Given the description of an element on the screen output the (x, y) to click on. 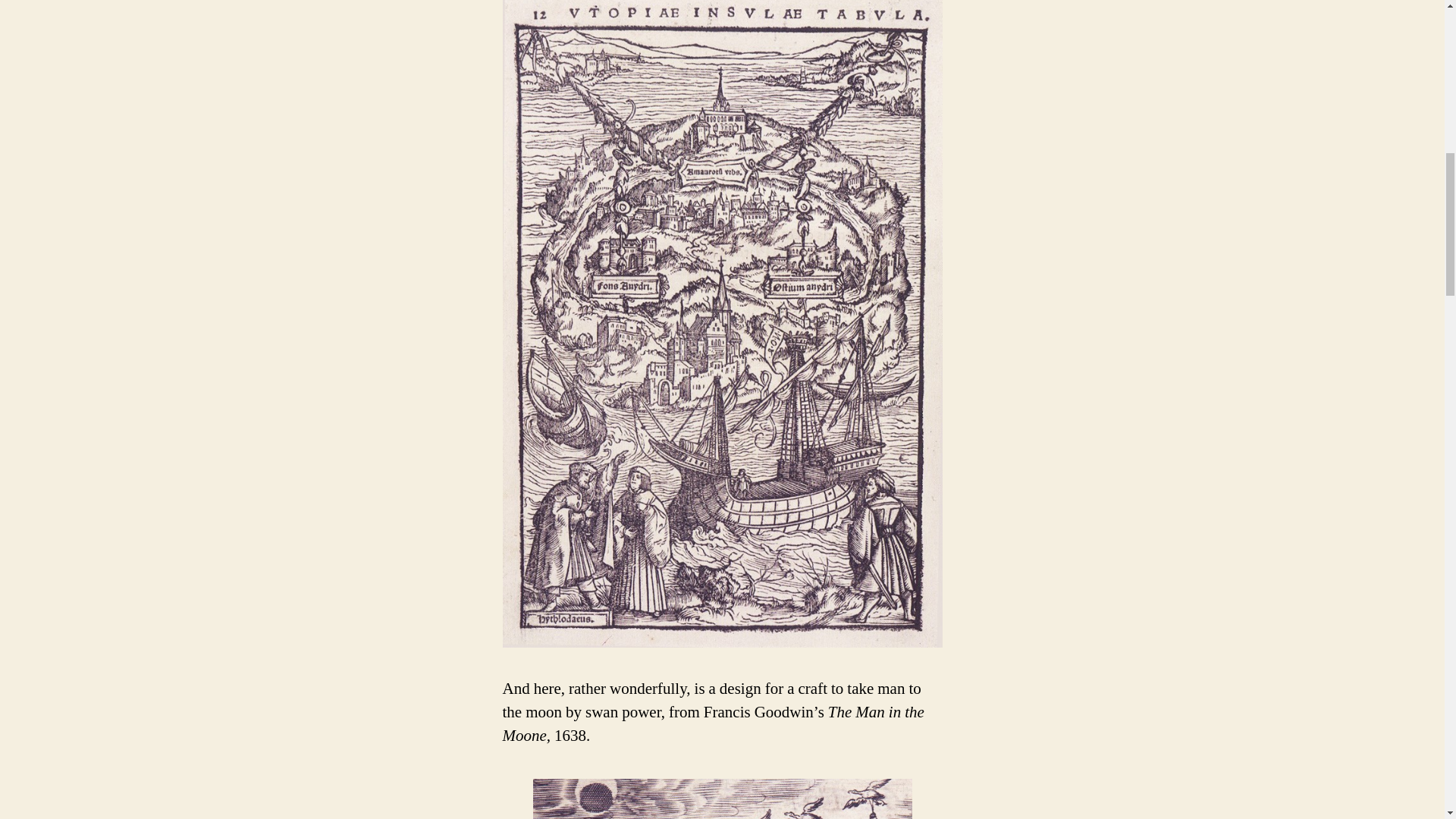
The Man in the Moone (721, 798)
